Given the description of an element on the screen output the (x, y) to click on. 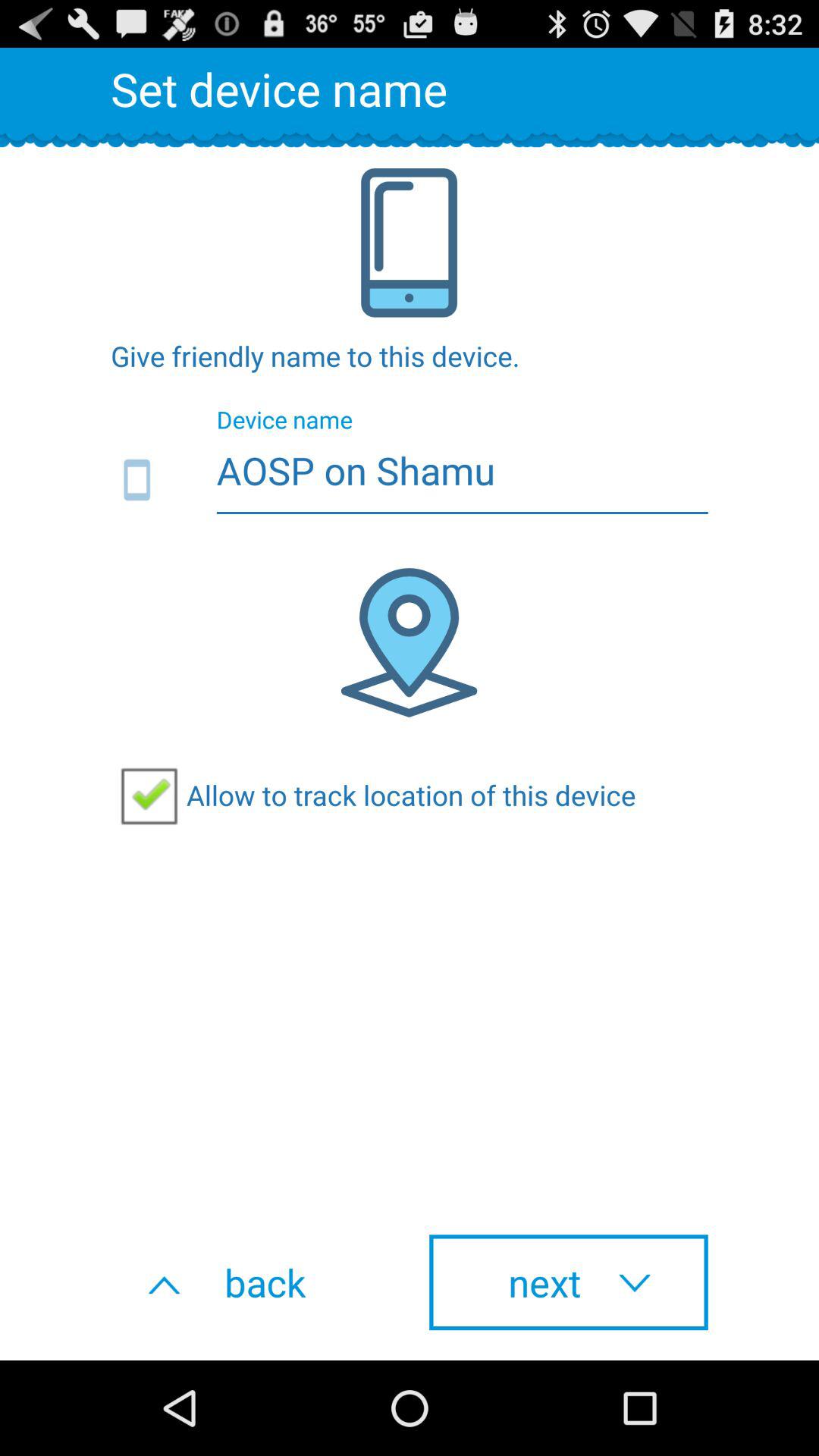
tap allow to track item (372, 794)
